Given the description of an element on the screen output the (x, y) to click on. 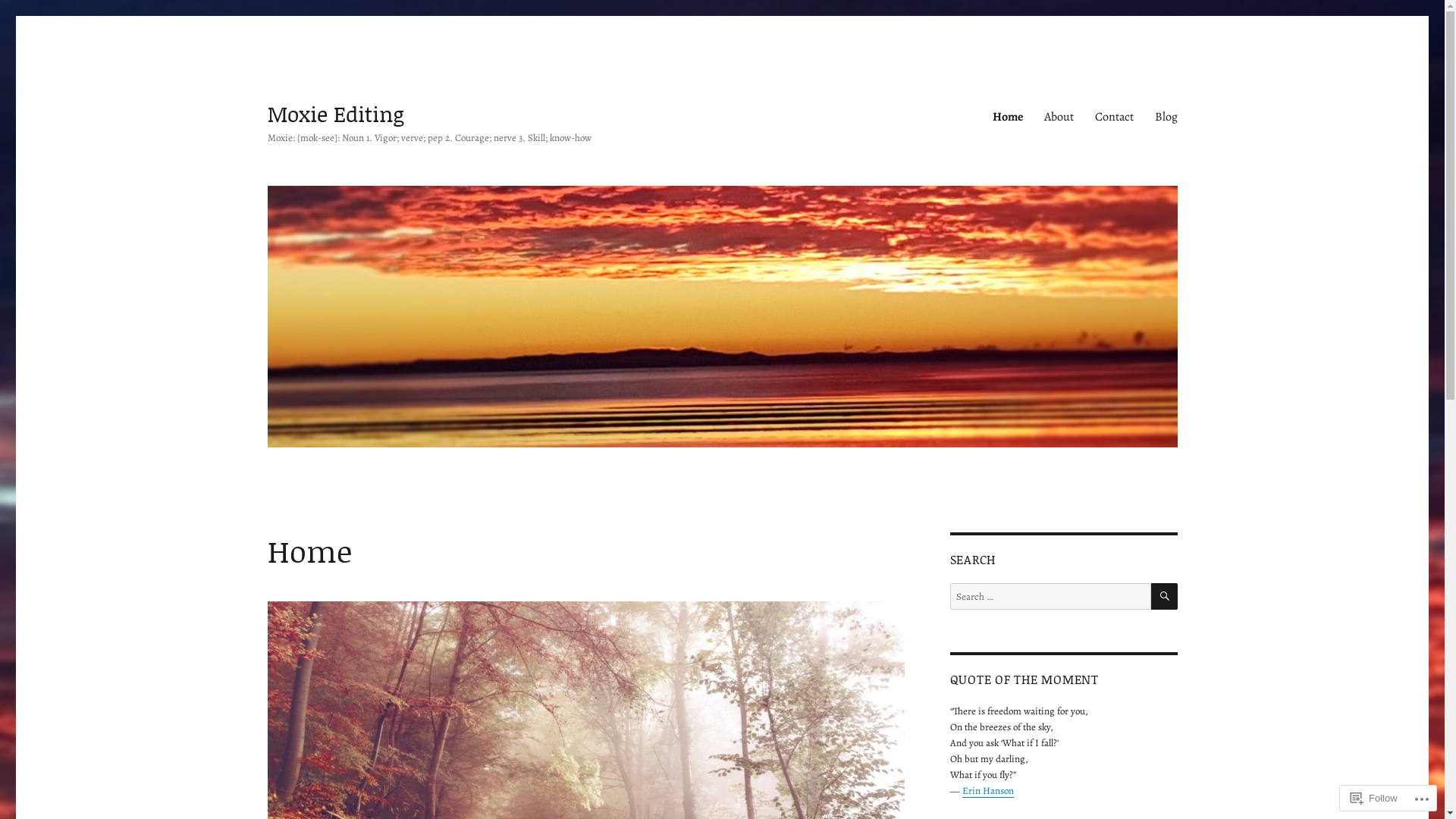
Follow Element type: text (1373, 797)
Home Element type: text (1006, 116)
About Element type: text (1057, 116)
Blog Element type: text (1165, 116)
Erin Hanson Element type: text (987, 790)
Contact Element type: text (1114, 116)
Moxie Editing Element type: text (334, 113)
